Given the description of an element on the screen output the (x, y) to click on. 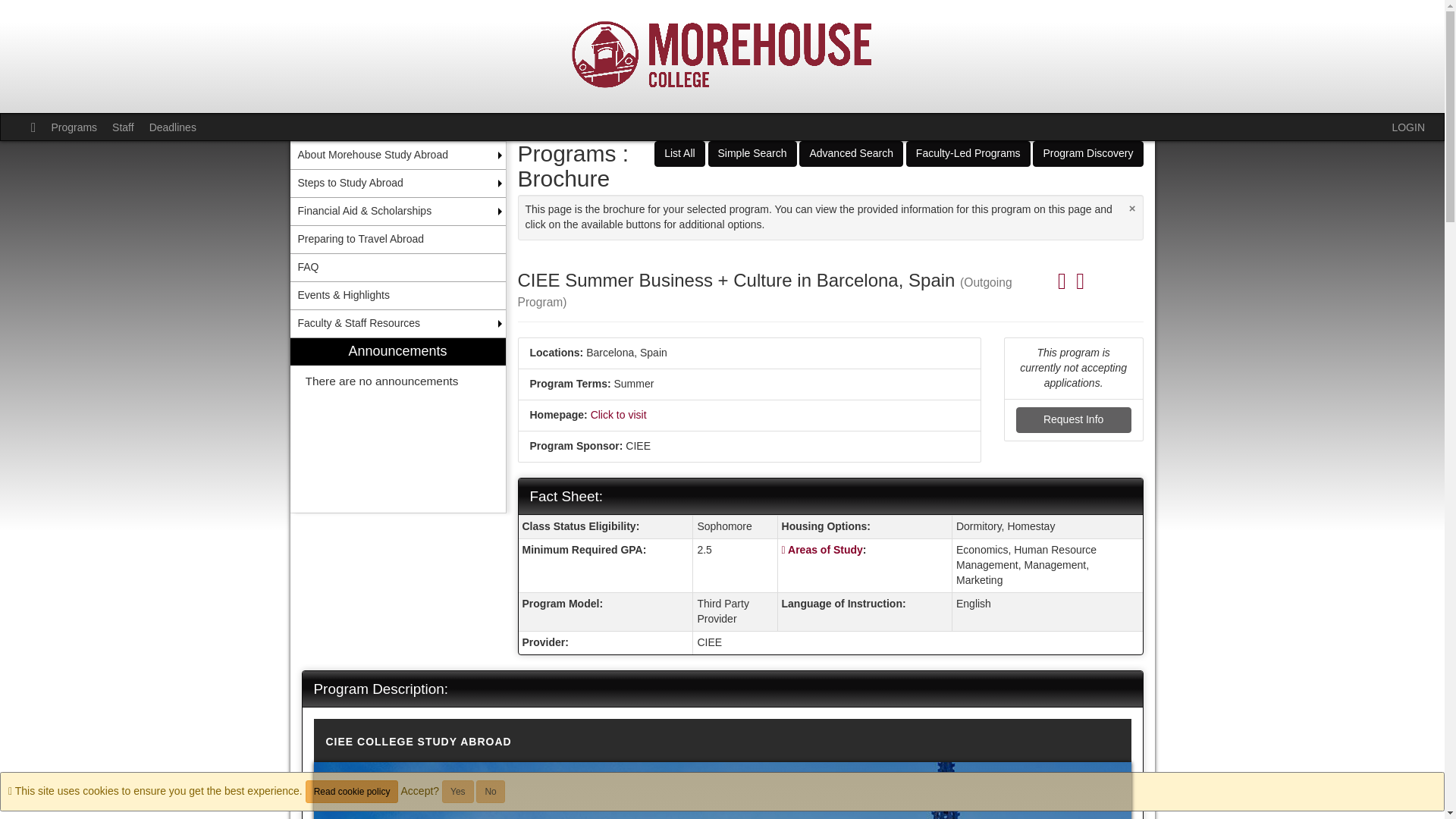
Simple Search (751, 153)
Faculty-Led Programs (967, 153)
Staff (122, 126)
Advanced Search (850, 153)
Click here for a definition of this term (825, 549)
About Morehouse Study Abroad (397, 154)
Preparing to Travel Abroad (397, 239)
Click to visit the homepage (618, 414)
Programs (73, 126)
FAQ (397, 267)
